Given the description of an element on the screen output the (x, y) to click on. 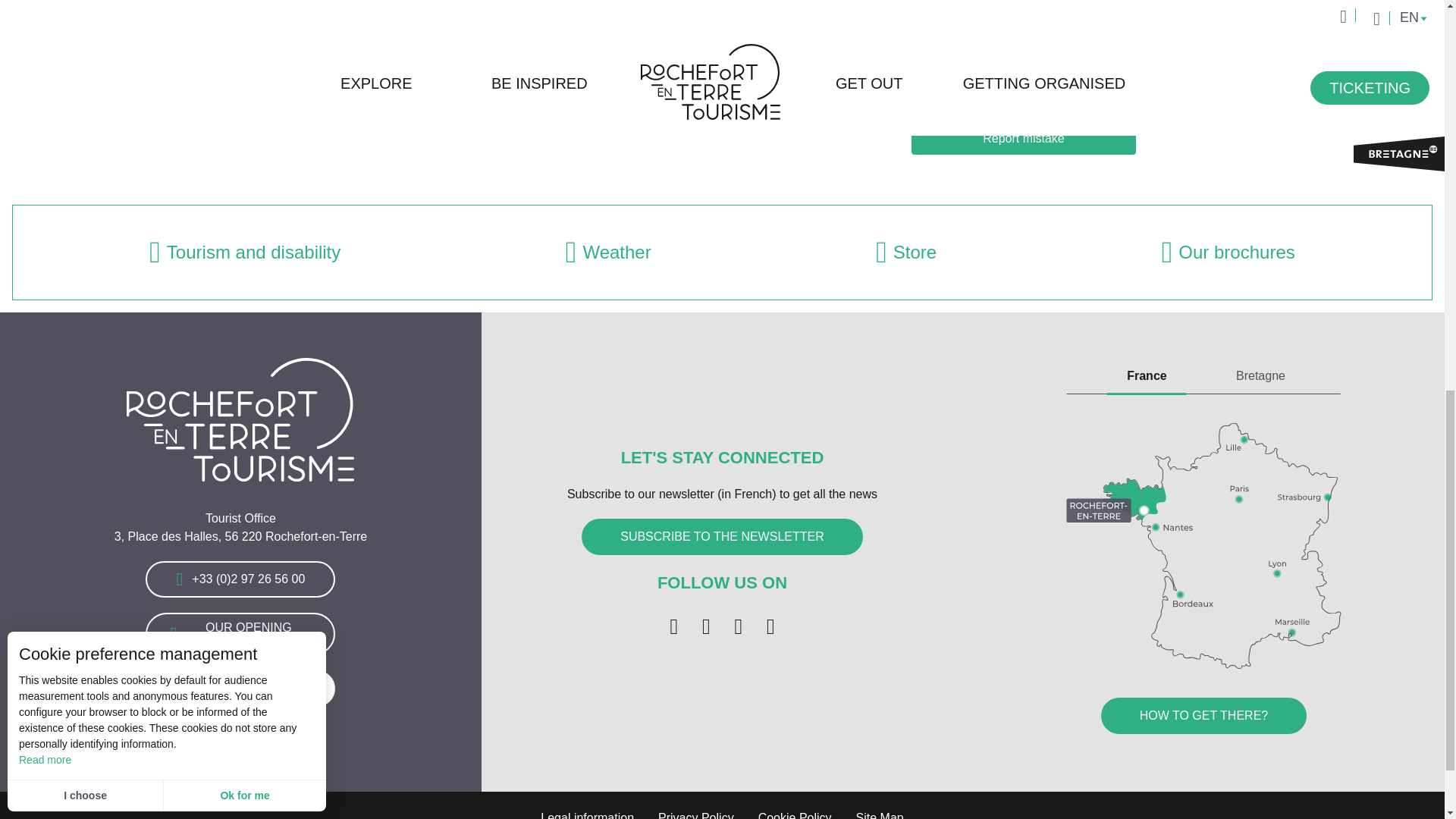
Subscribe to the newsletter (721, 536)
SUBSCRIBE TO THE NEWSLETTER (721, 536)
OUR OPENING HOURS (239, 633)
Tourism and disability (244, 252)
Cookie Policy (794, 805)
www.mediatheques.questembert-communaute.fr (1069, 40)
Legal information (587, 805)
Our brochures  (1228, 252)
Contact us (239, 688)
HOW TO GET THERE? (1203, 715)
